Given the description of an element on the screen output the (x, y) to click on. 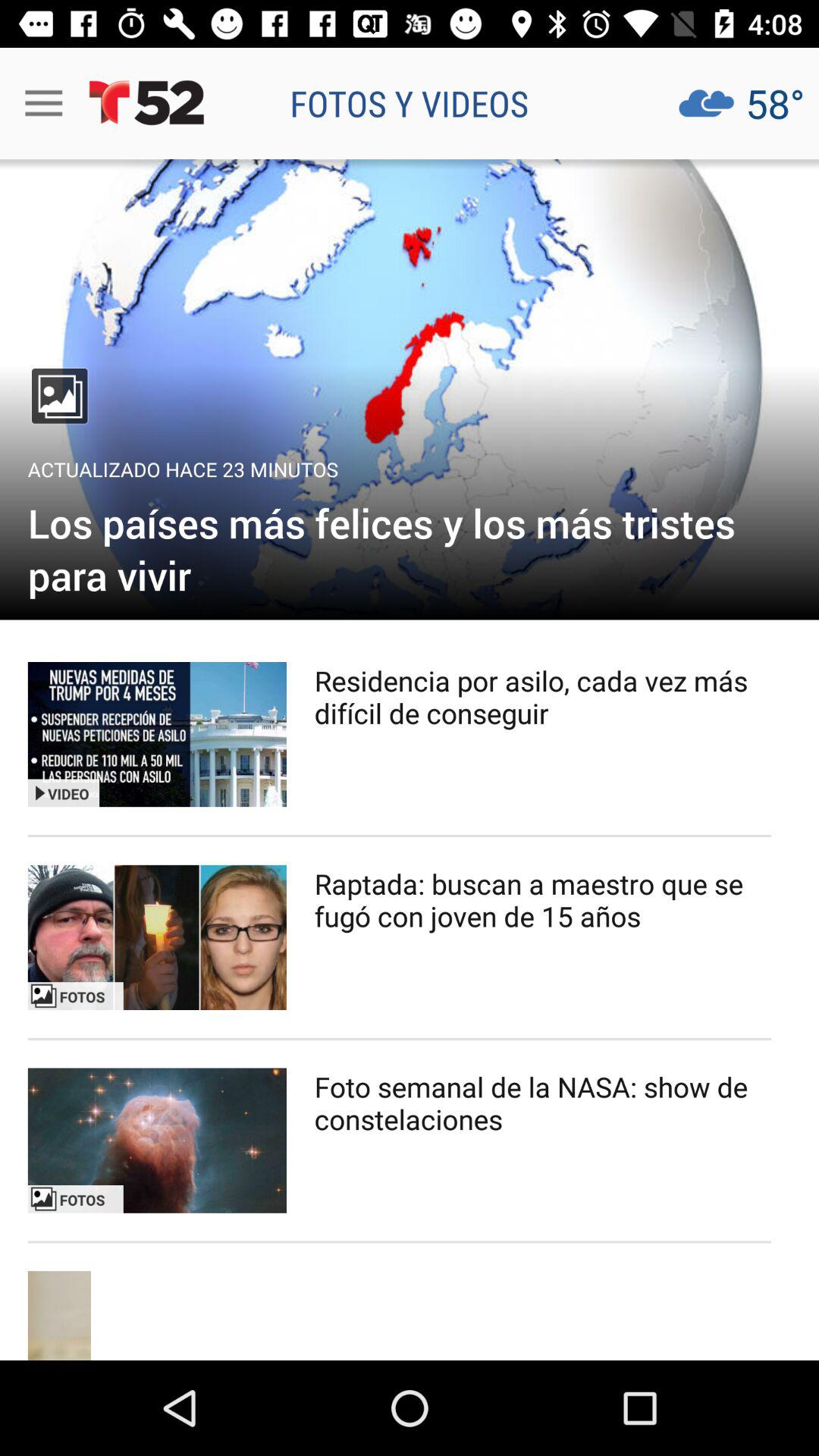
go to video (156, 734)
